Given the description of an element on the screen output the (x, y) to click on. 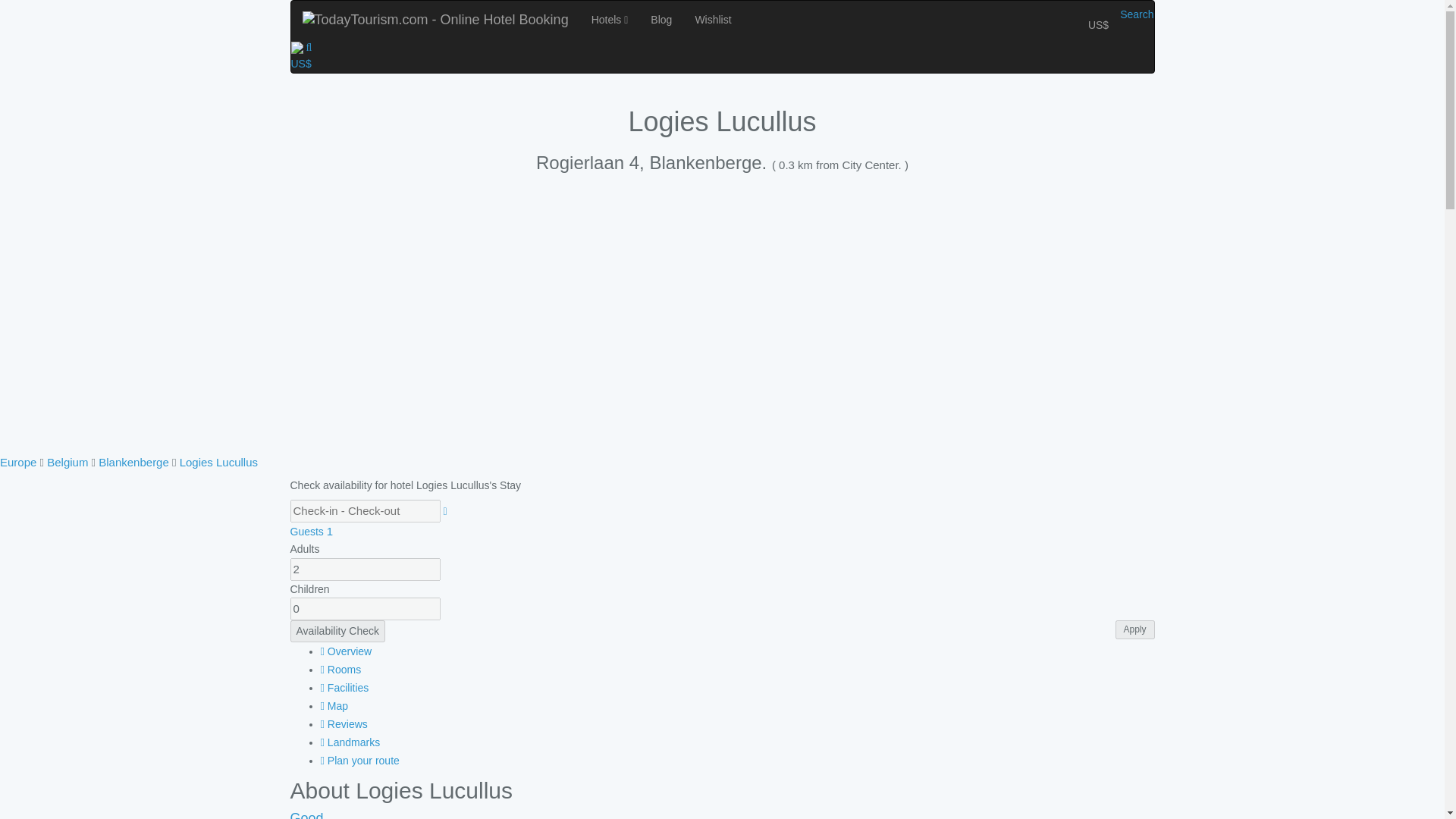
Apply (1134, 629)
Availability Check (336, 630)
Map (333, 705)
choose your currency (301, 63)
Belgium (66, 461)
Wishlist (712, 19)
Logies Lucullus (218, 461)
Guests 1 (311, 531)
Overview (345, 651)
2 (364, 568)
Blankenberge (133, 461)
Facilities (344, 687)
Search (1136, 14)
choose your currency (1098, 24)
Rooms (340, 669)
